Given the description of an element on the screen output the (x, y) to click on. 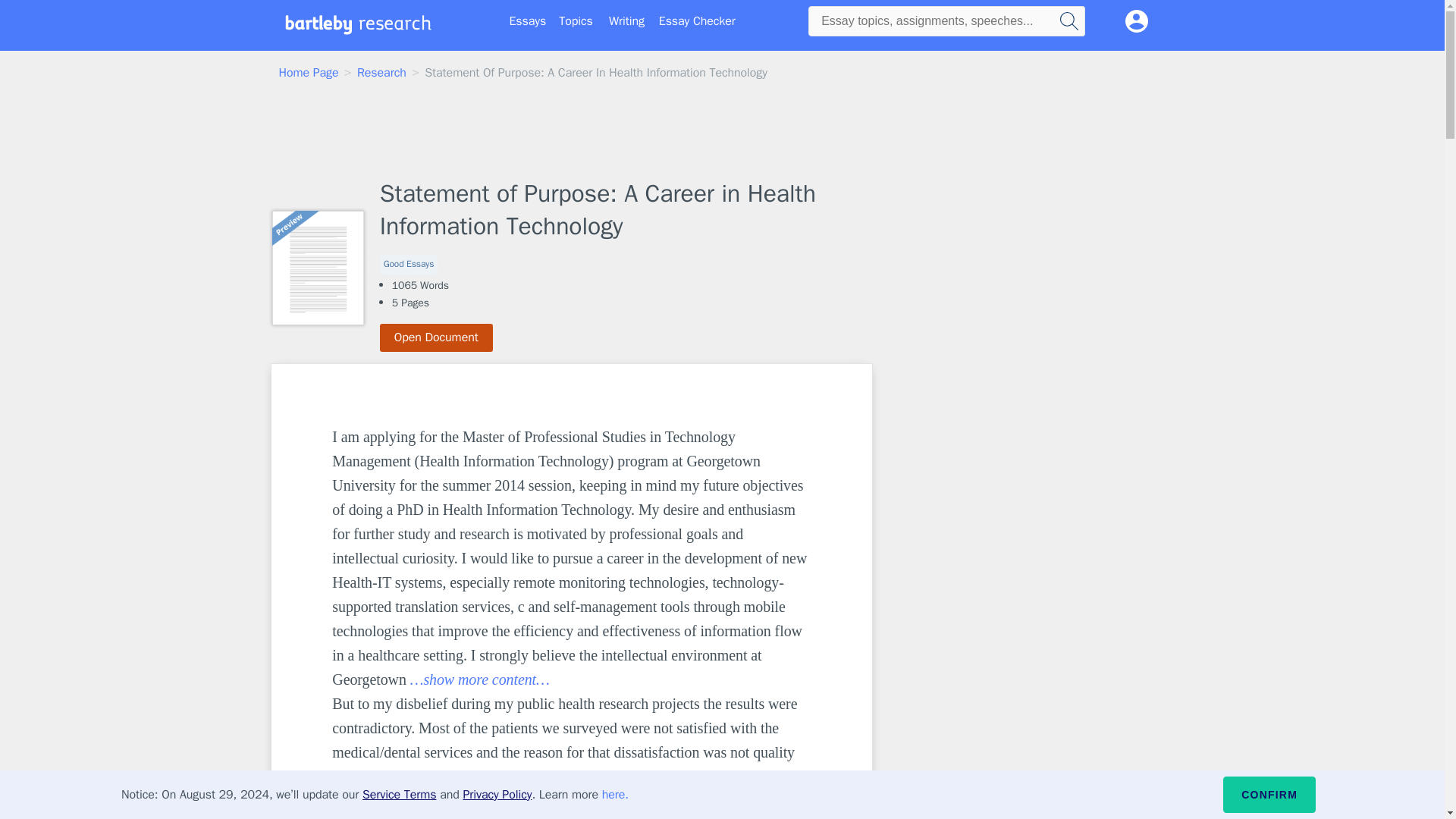
Home Page (309, 72)
Essay Checker (697, 20)
Essays (528, 20)
Topics (575, 20)
Writing (626, 20)
Research (381, 72)
Open Document (436, 337)
